Given the description of an element on the screen output the (x, y) to click on. 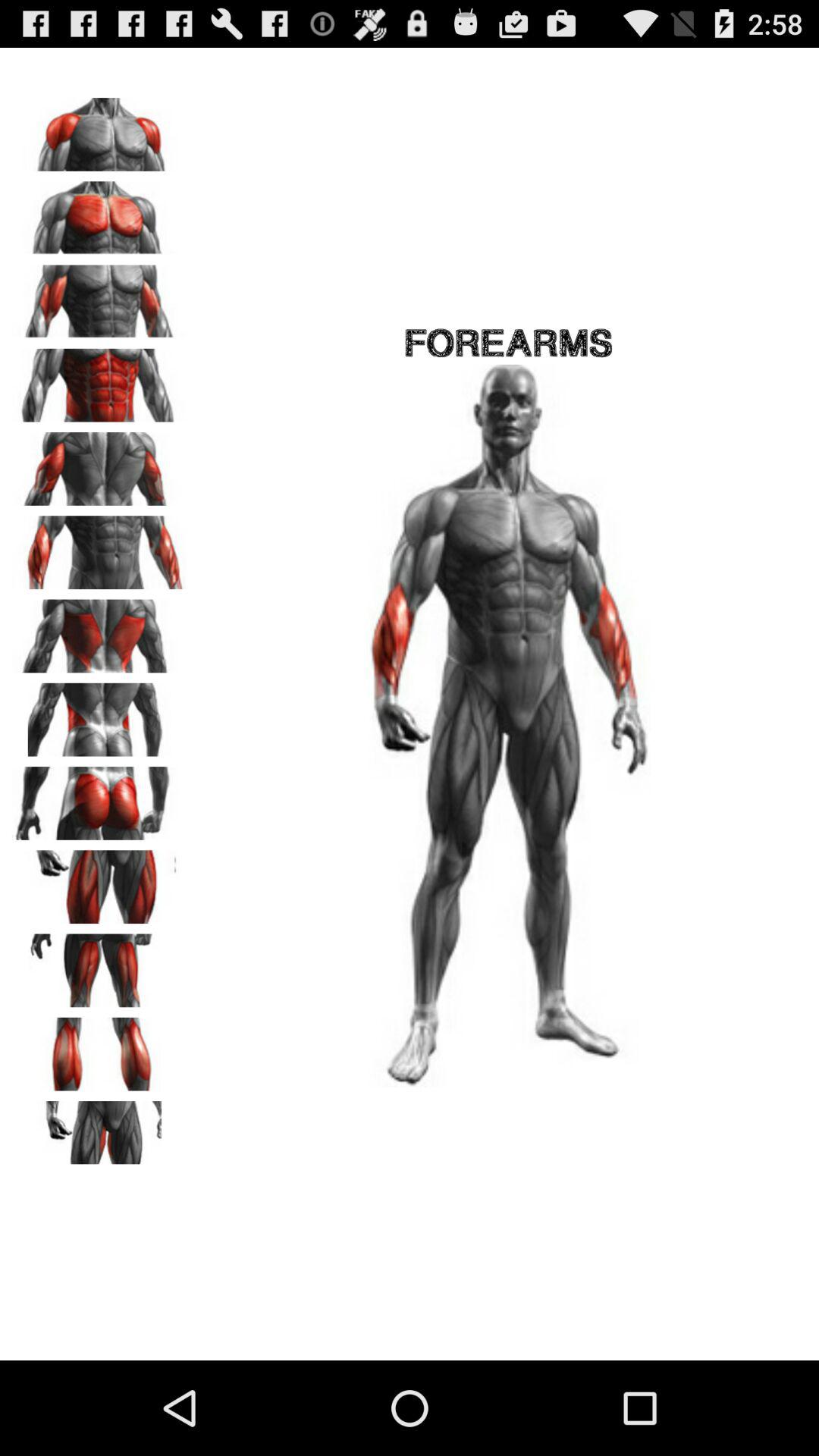
choose inner thigh (99, 1132)
